Given the description of an element on the screen output the (x, y) to click on. 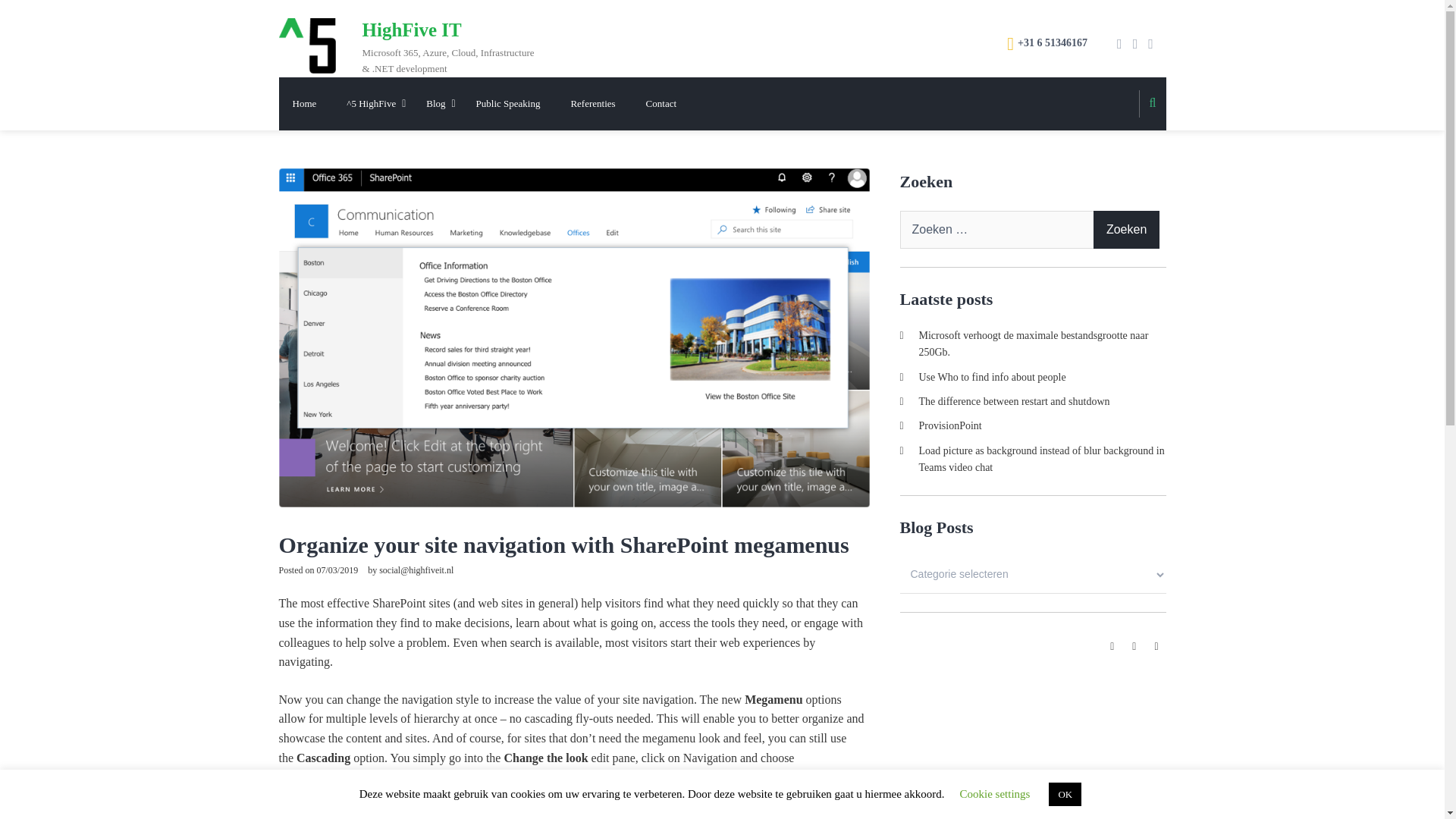
Zoeken (1126, 229)
HighFive IT (411, 29)
Public Speaking (508, 103)
Contact (660, 103)
Zoeken (1126, 229)
Zoeken (1126, 229)
Home (304, 103)
Use Who to find info about people (991, 377)
Microsoft verhoogt de maximale bestandsgrootte naar 250Gb. (1033, 343)
Referenties (592, 103)
Blog (435, 103)
